Given the description of an element on the screen output the (x, y) to click on. 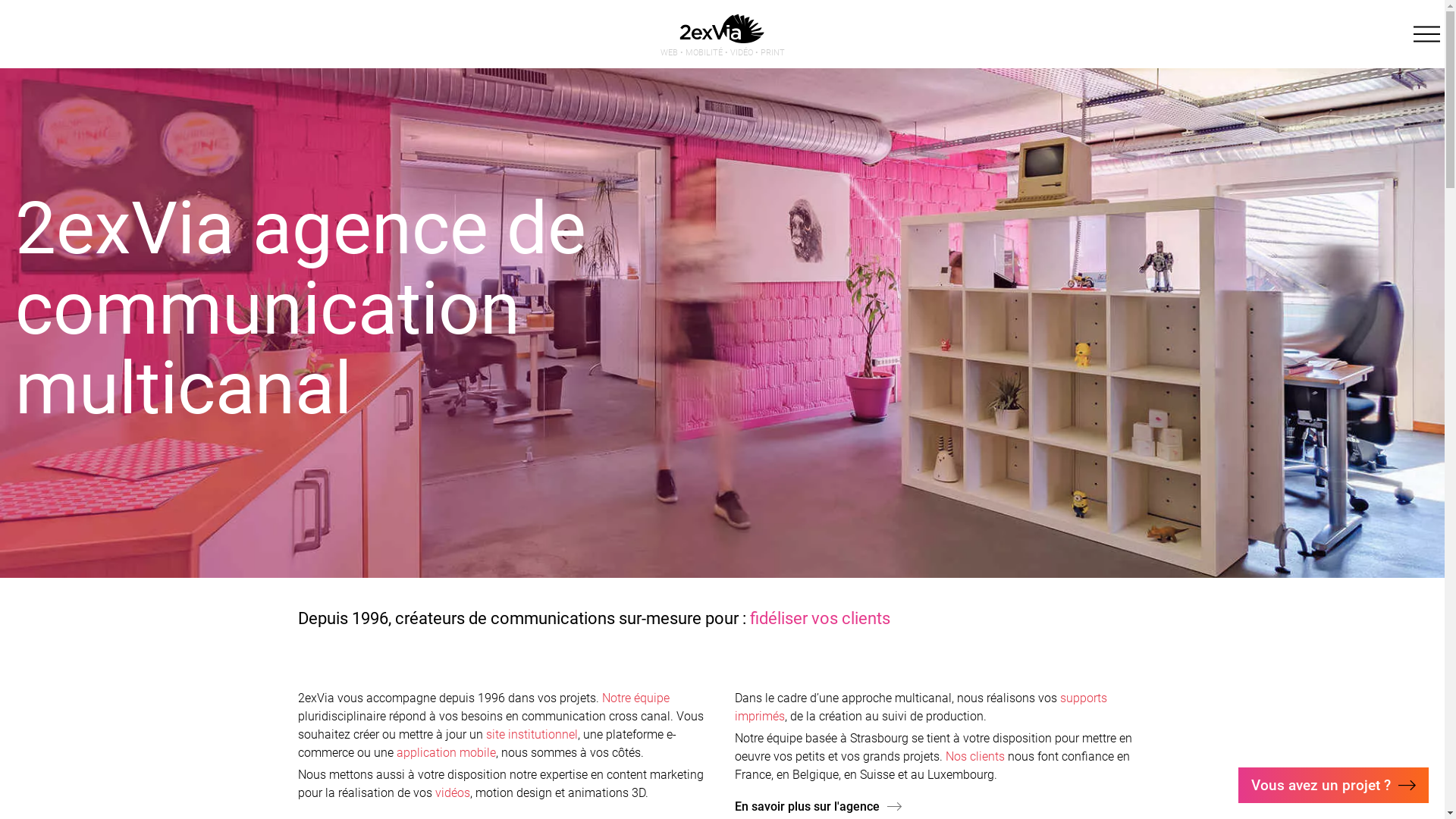
Vous avez un projet ? Element type: text (1333, 785)
application mobile Element type: text (445, 752)
Accueil Element type: hover (722, 37)
En savoir plus sur l'agence Element type: text (817, 806)
site institutionnel Element type: text (531, 734)
Nos clients Element type: text (974, 756)
